Given the description of an element on the screen output the (x, y) to click on. 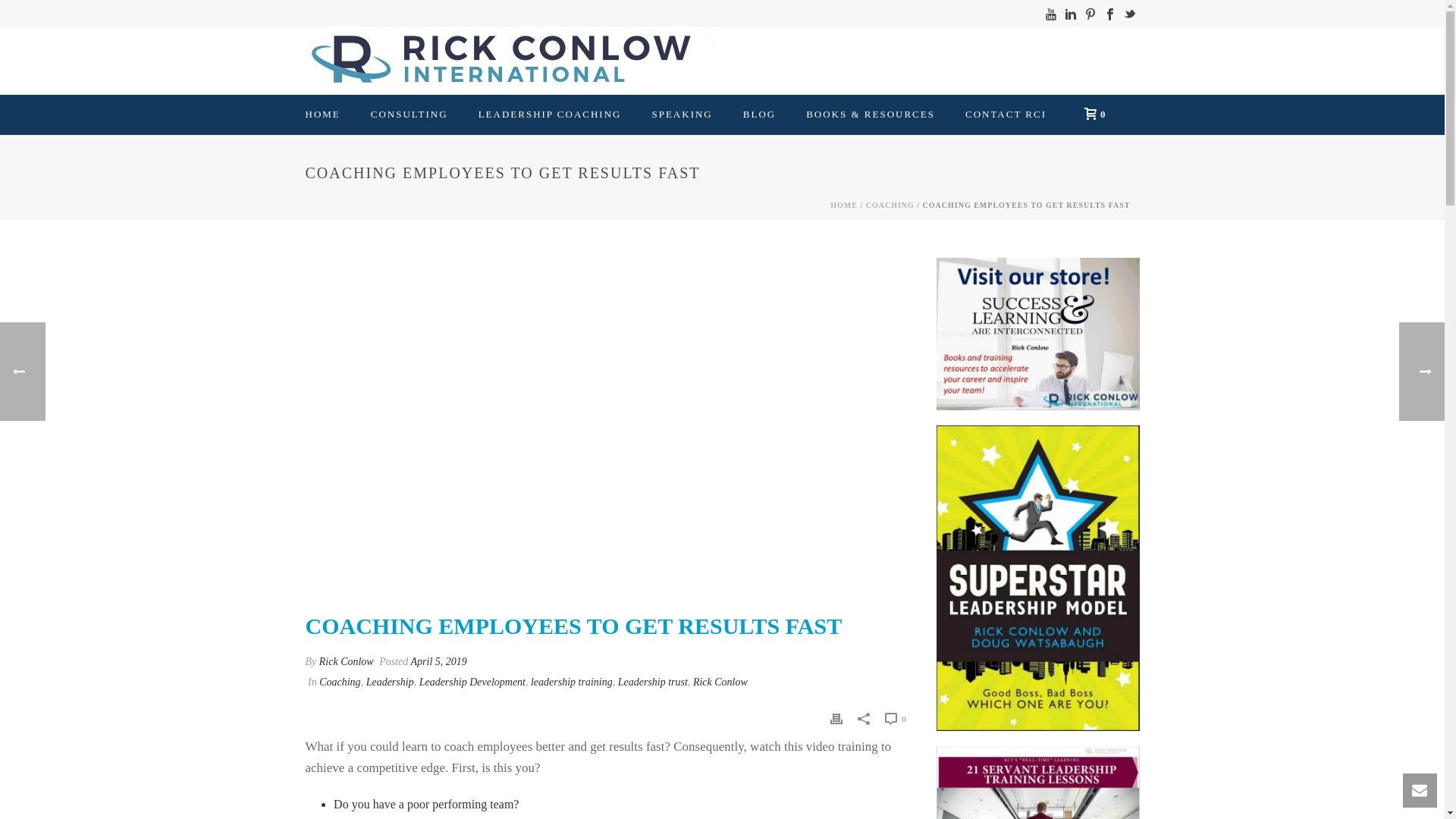
SPEAKING (681, 115)
April 5, 2019 (438, 661)
HOME (843, 204)
HOME (322, 115)
LEADERSHIP COACHING (550, 115)
COACHING (890, 204)
CONTACT RCI (1005, 115)
Coaching (338, 681)
BLOG (759, 115)
BLOG (759, 115)
Rick Conlow (346, 661)
0 (1090, 113)
Rick Conlow International Store (1038, 333)
LEADERSHIP COACHING (550, 115)
SPEAKING (681, 115)
